Given the description of an element on the screen output the (x, y) to click on. 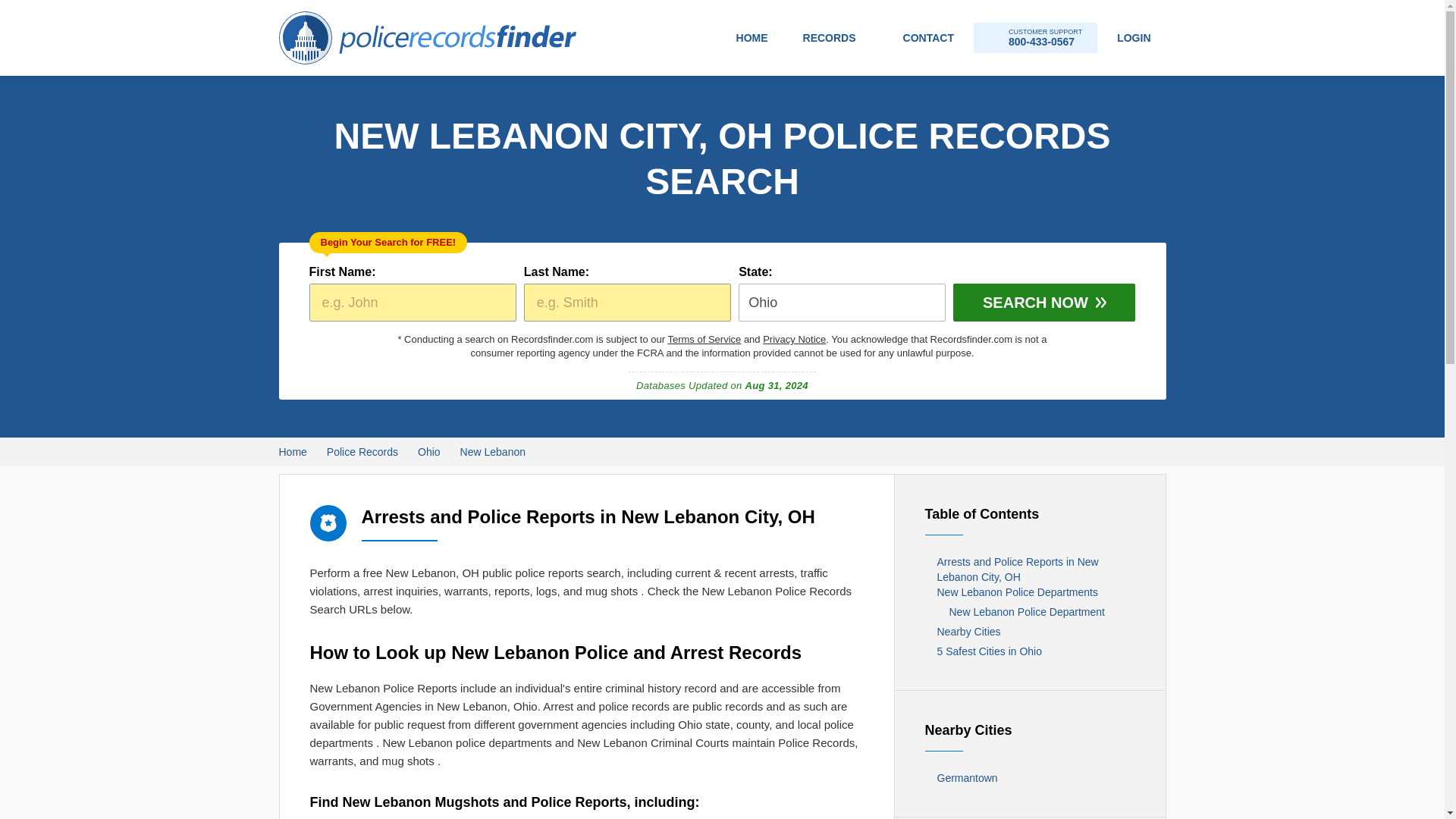
New Lebanon Police Departments (1029, 591)
Nearby Cities (1029, 631)
Police Records (361, 451)
Germantown (1029, 777)
HOME (751, 37)
Ohio (1035, 37)
Privacy Notice (429, 451)
CONTACT (793, 338)
RECORDS (928, 37)
